Given the description of an element on the screen output the (x, y) to click on. 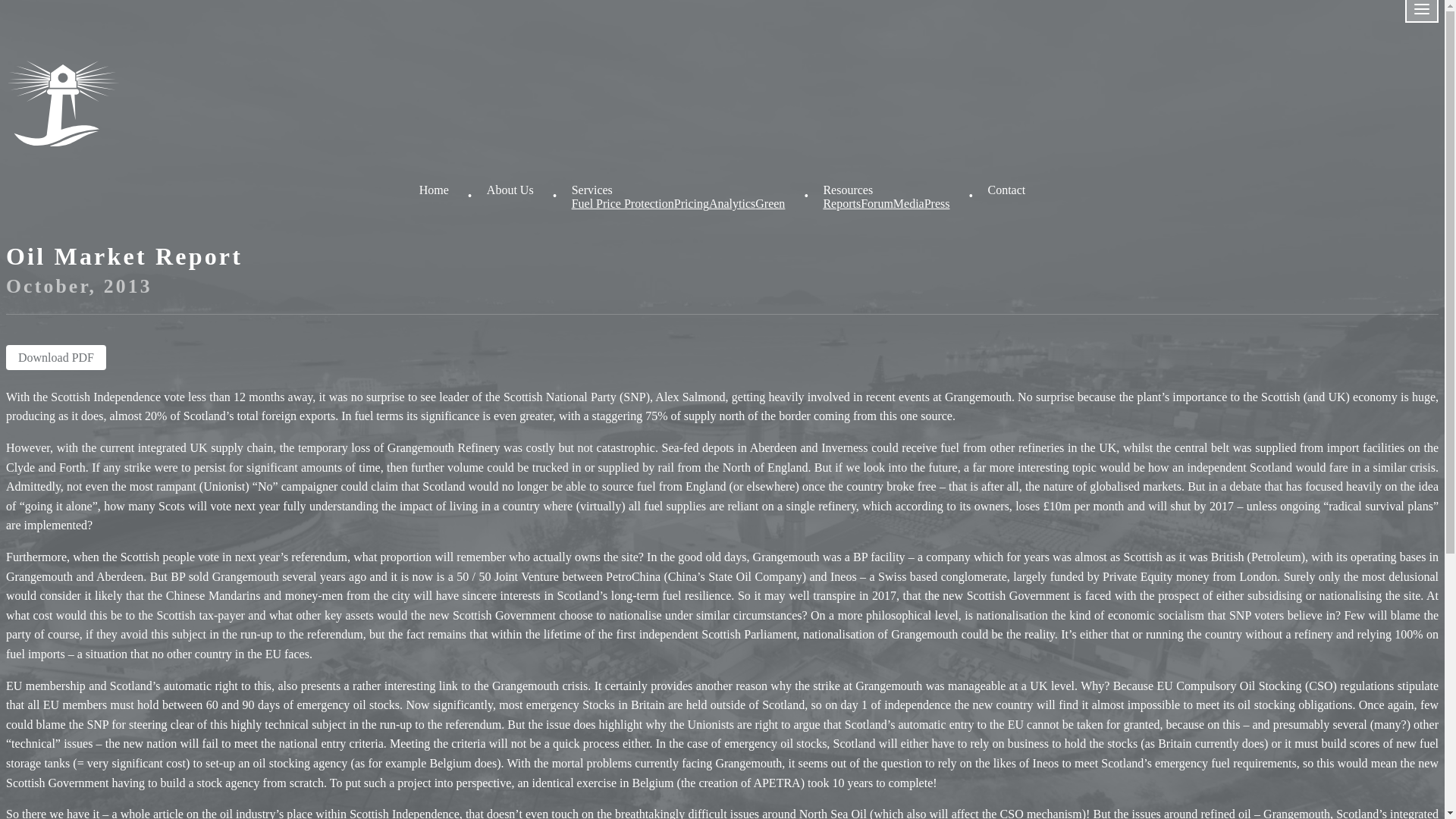
Analytics (732, 203)
Fuel Forum (876, 203)
Media (908, 203)
Green (769, 203)
Forum (876, 203)
Download a PDF of the report (55, 357)
Analytics (732, 203)
Services (592, 189)
Market Reports (841, 203)
About Us (510, 189)
About Us (510, 189)
Pricing (691, 203)
Home (433, 189)
Fuel Price Protection (623, 203)
Green (769, 203)
